Given the description of an element on the screen output the (x, y) to click on. 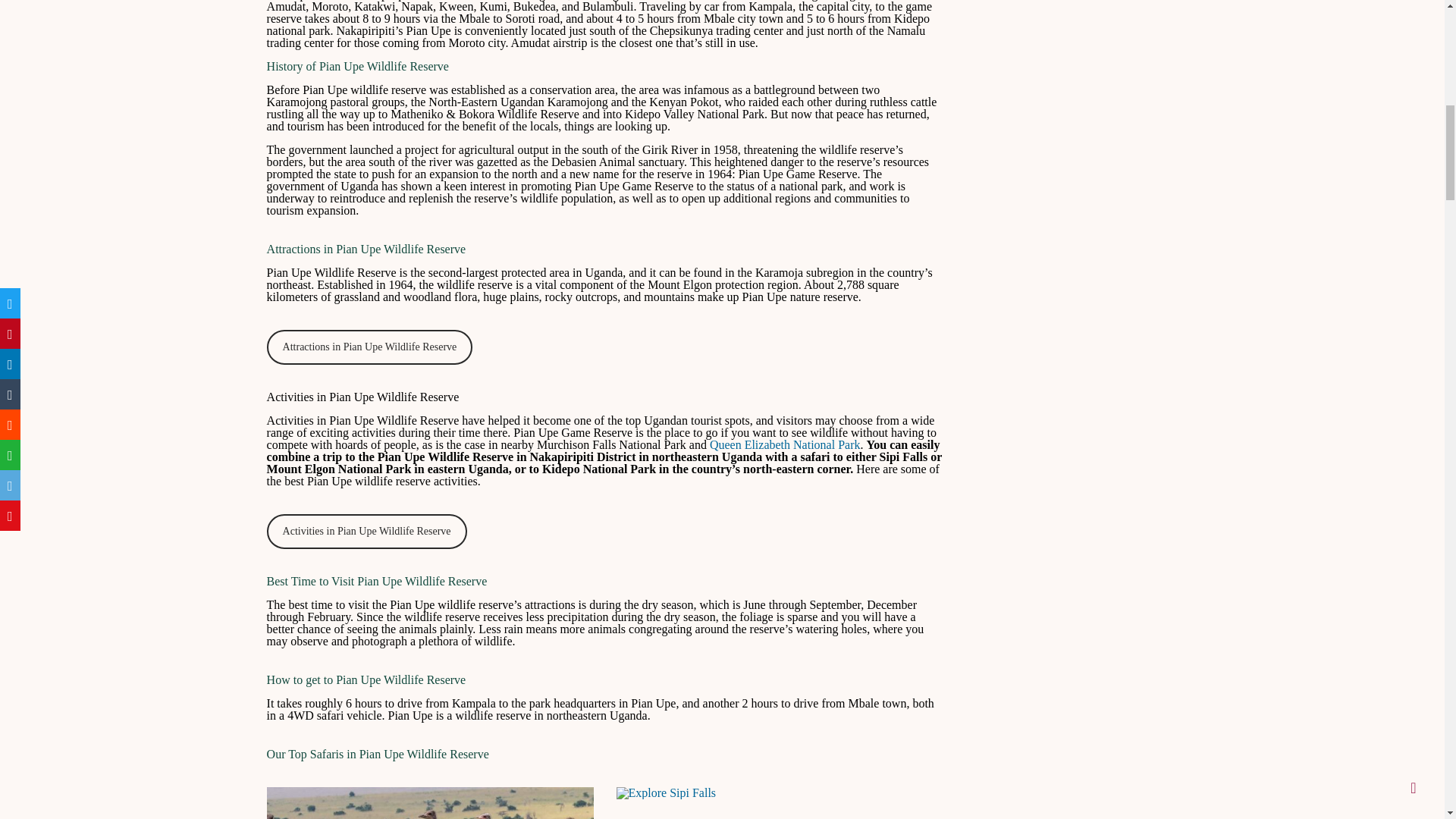
Activities in Pian Upe Wildlife Reserve (366, 531)
Explore Sipi Falls (665, 793)
Attractions in Pian Upe Wildlife Reserve (369, 347)
Attractions in Pian Upe wildlife reserve. (430, 803)
